Given the description of an element on the screen output the (x, y) to click on. 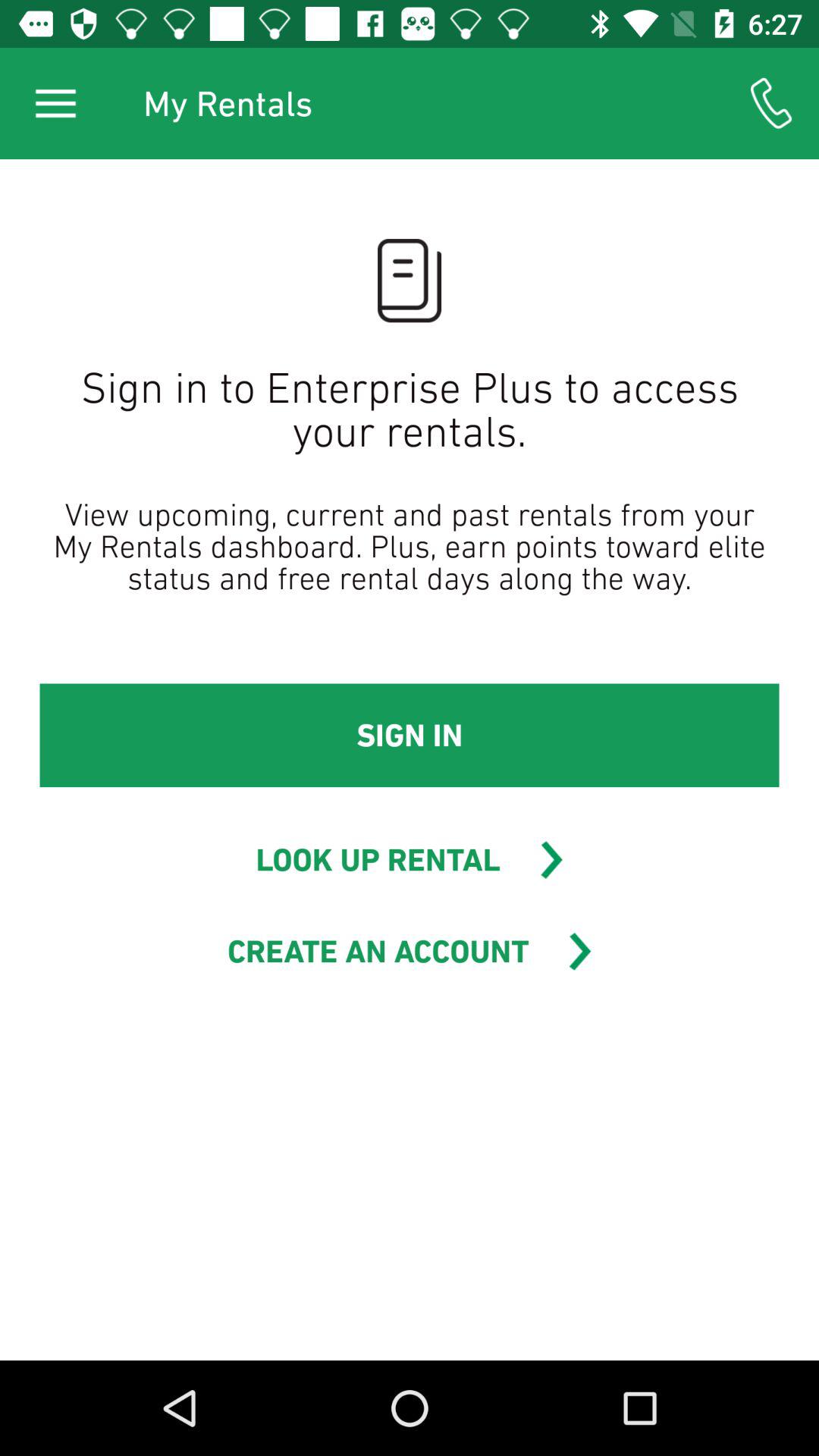
flip to create an account icon (377, 951)
